Given the description of an element on the screen output the (x, y) to click on. 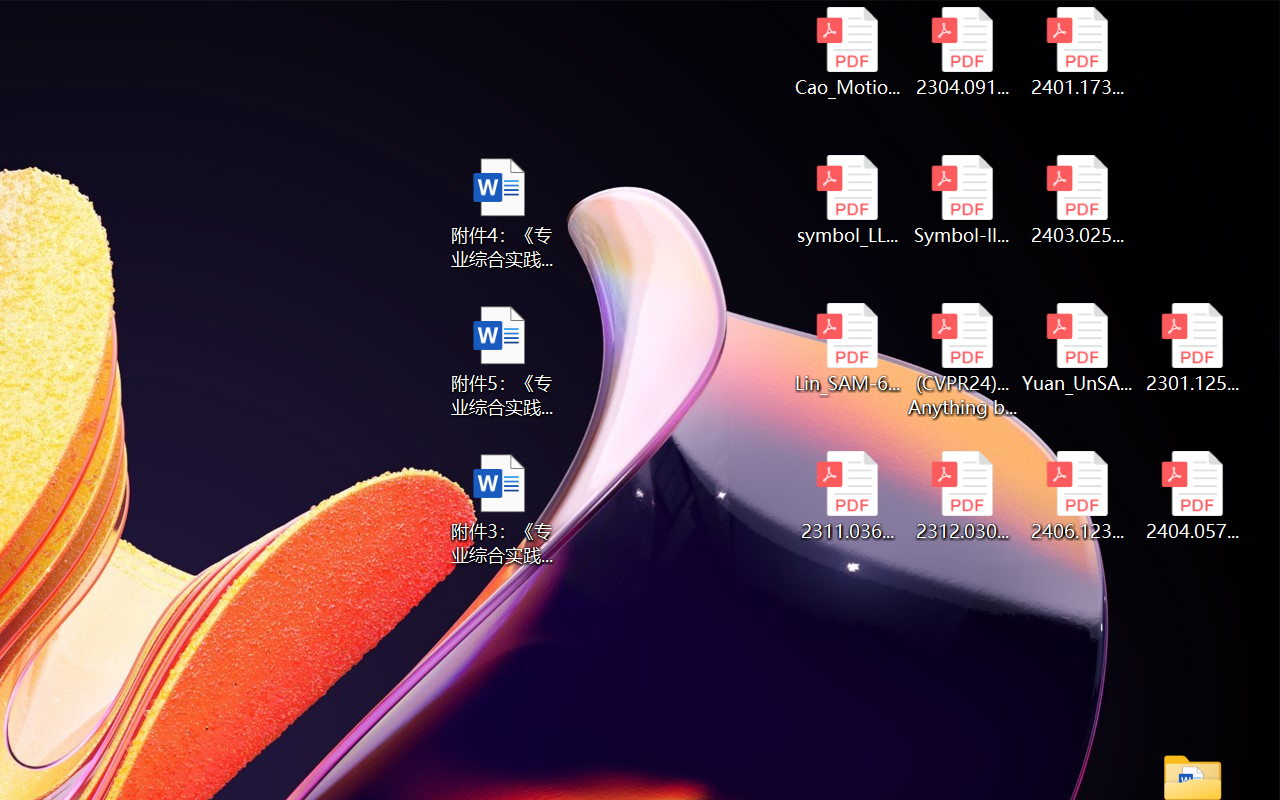
2304.09121v3.pdf (962, 52)
2401.17399v1.pdf (1077, 52)
2404.05719v1.pdf (1192, 496)
2312.03032v2.pdf (962, 496)
2311.03658v2.pdf (846, 496)
2406.12373v2.pdf (1077, 496)
Symbol-llm-v2.pdf (962, 200)
symbol_LLM.pdf (846, 200)
2301.12597v3.pdf (1192, 348)
2403.02502v1.pdf (1077, 200)
(CVPR24)Matching Anything by Segmenting Anything.pdf (962, 360)
